Given the description of an element on the screen output the (x, y) to click on. 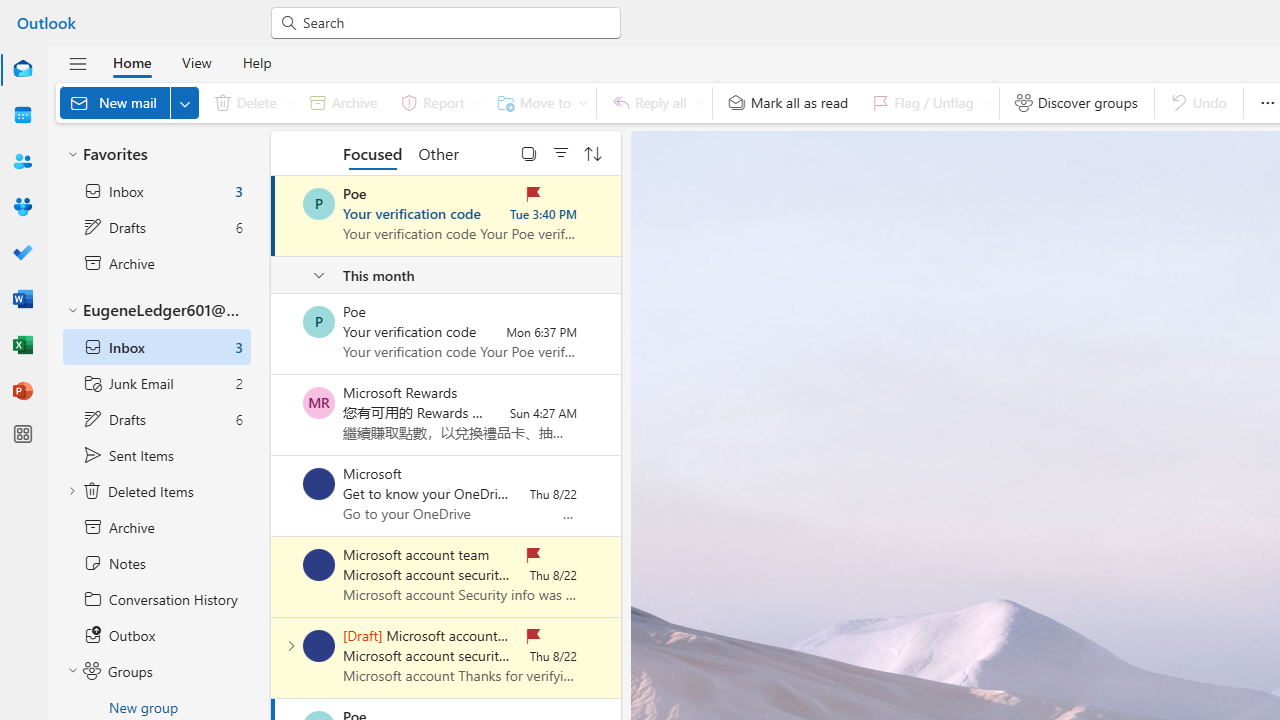
Microsoft Rewards (319, 403)
View (196, 61)
Expand to see delete options (289, 102)
To Do (22, 252)
Select (529, 152)
Move to (538, 102)
To Do (22, 254)
Report (437, 102)
Discover groups (1076, 102)
Undo (1198, 102)
Mark all as read (788, 102)
Reply all (654, 102)
Home (132, 61)
